Given the description of an element on the screen output the (x, y) to click on. 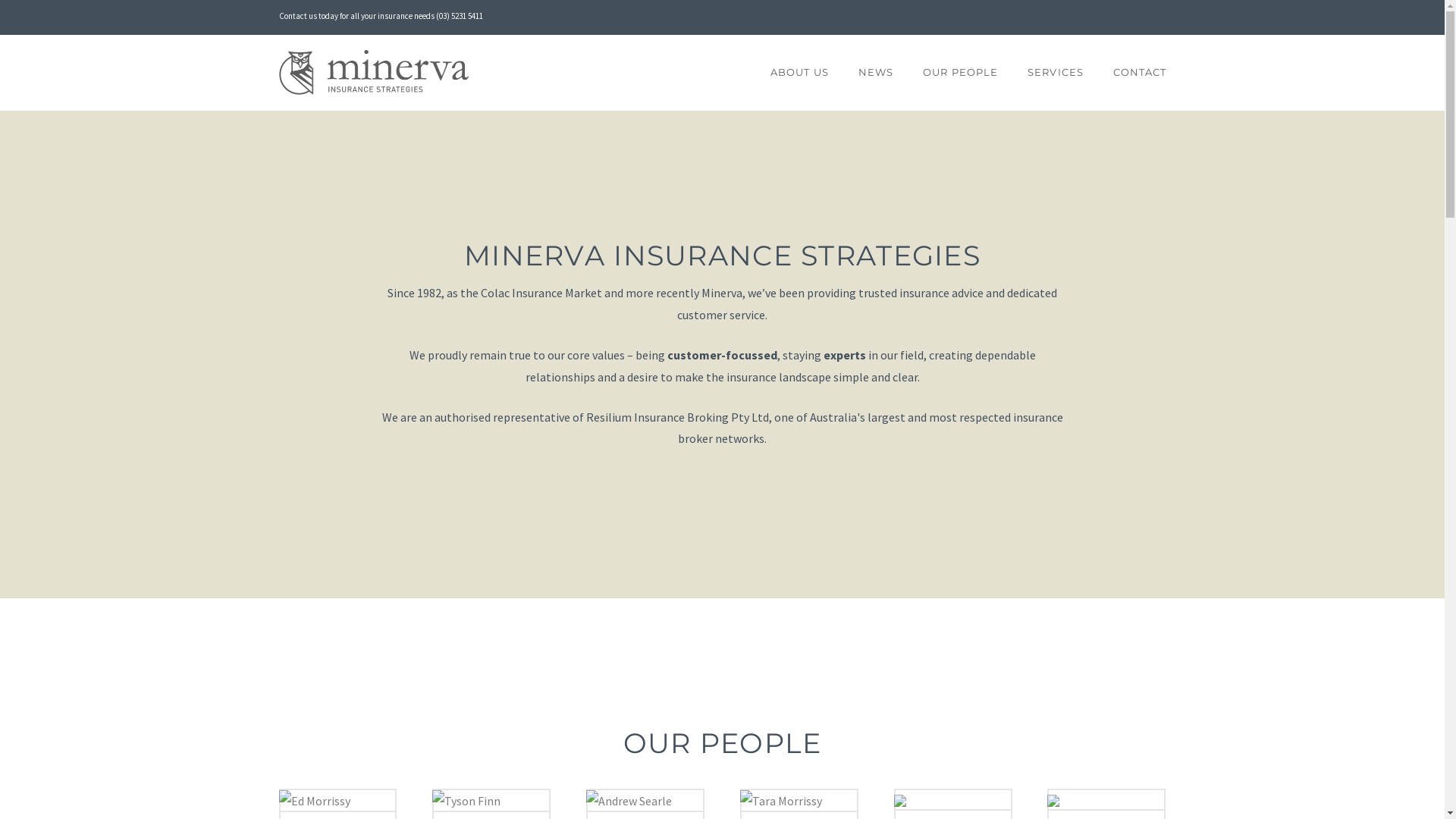
SERVICES Element type: text (1055, 72)
CONTACT Element type: text (1132, 72)
ABOUT US Element type: text (799, 72)
NEWS Element type: text (875, 72)
OUR PEOPLE Element type: text (959, 72)
